Given the description of an element on the screen output the (x, y) to click on. 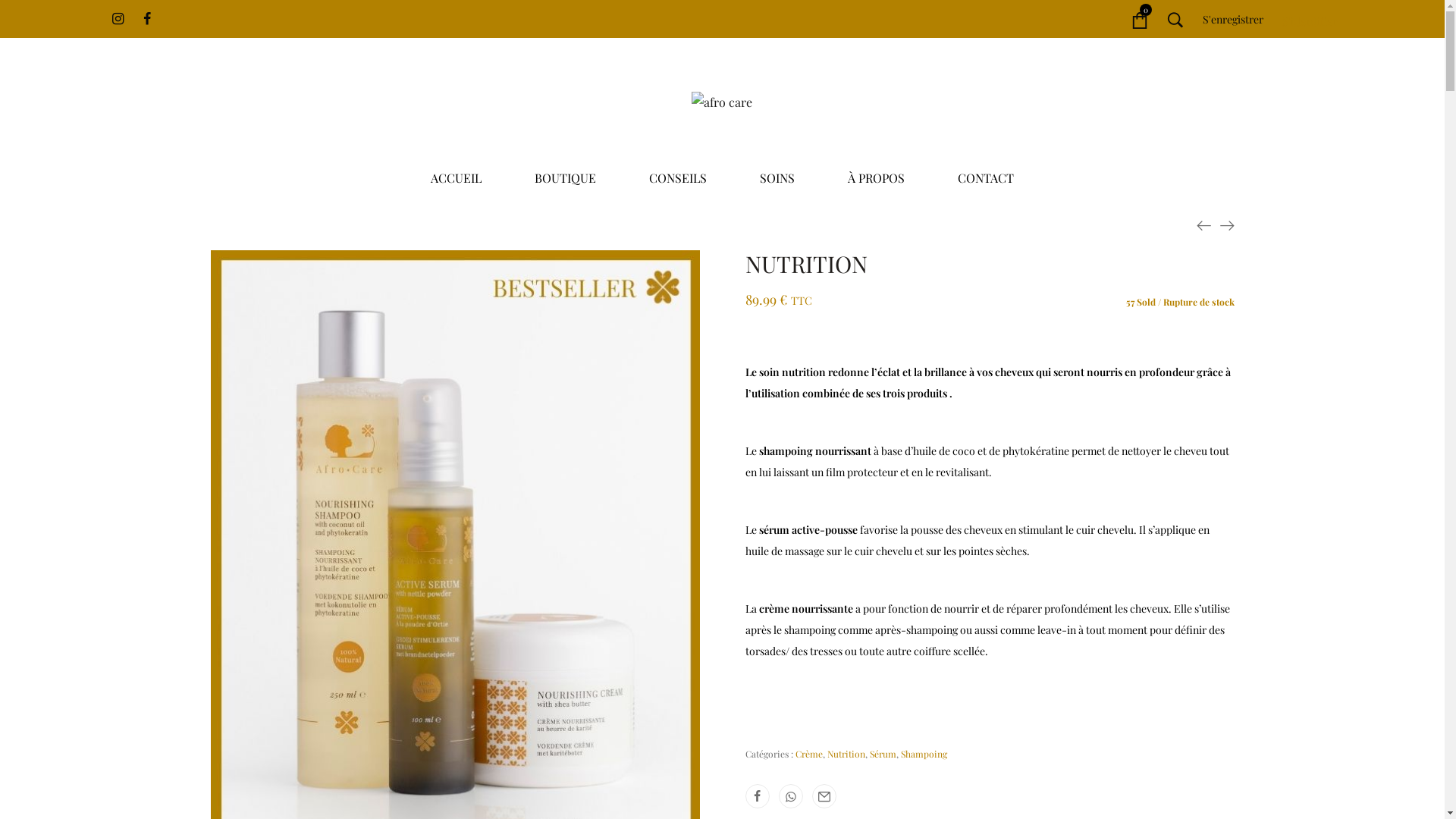
SHAMPOING FORTIFIANT Element type: hover (1226, 224)
SOINS Element type: text (776, 177)
CONSEILS Element type: text (677, 177)
Share via Whatsapp Element type: hover (790, 796)
S'enregistrer Element type: text (1223, 19)
0 Element type: text (1139, 18)
Share this post on Facebook Element type: hover (756, 796)
Shampoing Element type: text (923, 753)
CONTACT Element type: text (985, 177)
HYDRATATION Element type: hover (1203, 224)
BOUTIQUE Element type: text (565, 177)
ACCUEIL Element type: text (455, 177)
Share this post via Email Element type: hover (823, 796)
Nutrition Element type: text (845, 753)
